Given the description of an element on the screen output the (x, y) to click on. 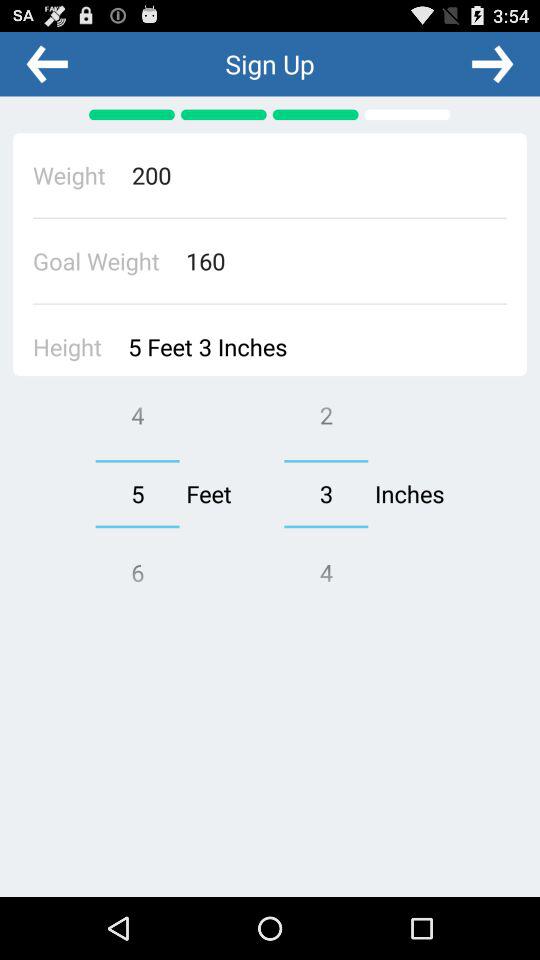
go back (47, 63)
